Given the description of an element on the screen output the (x, y) to click on. 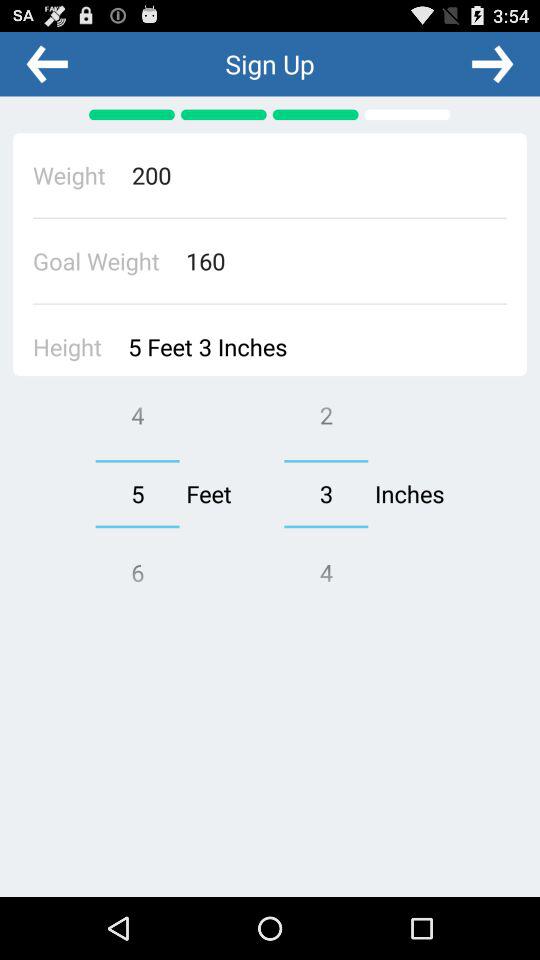
go back (47, 63)
